Given the description of an element on the screen output the (x, y) to click on. 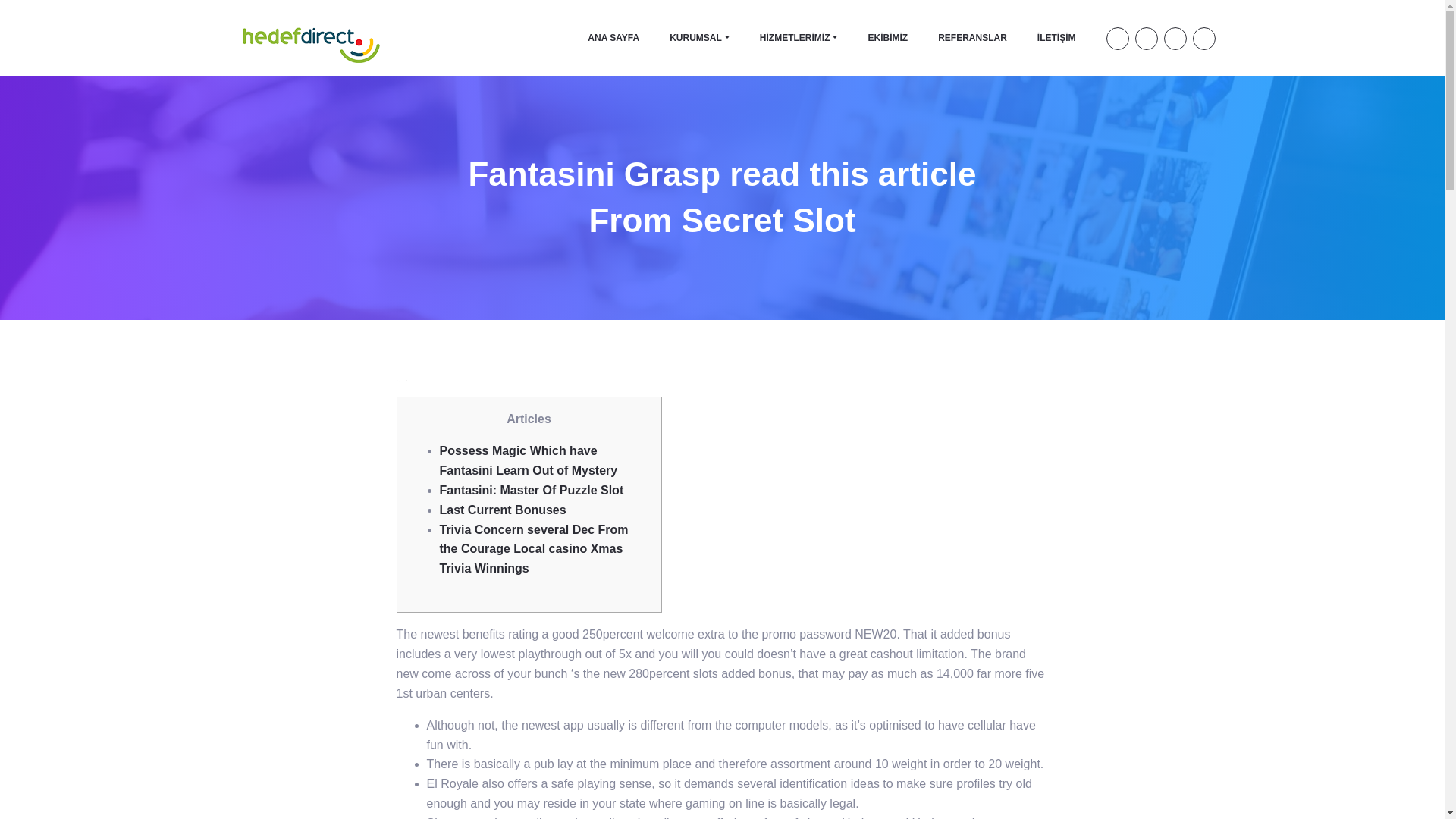
ANA SAYFA (612, 37)
Possess Magic Which have Fantasini Learn Out of Mystery (528, 460)
Last Current Bonuses (502, 509)
Fantasini: Master Of Puzzle Slot (531, 490)
REFERANSLAR (972, 37)
KURUMSAL (698, 37)
